Given the description of an element on the screen output the (x, y) to click on. 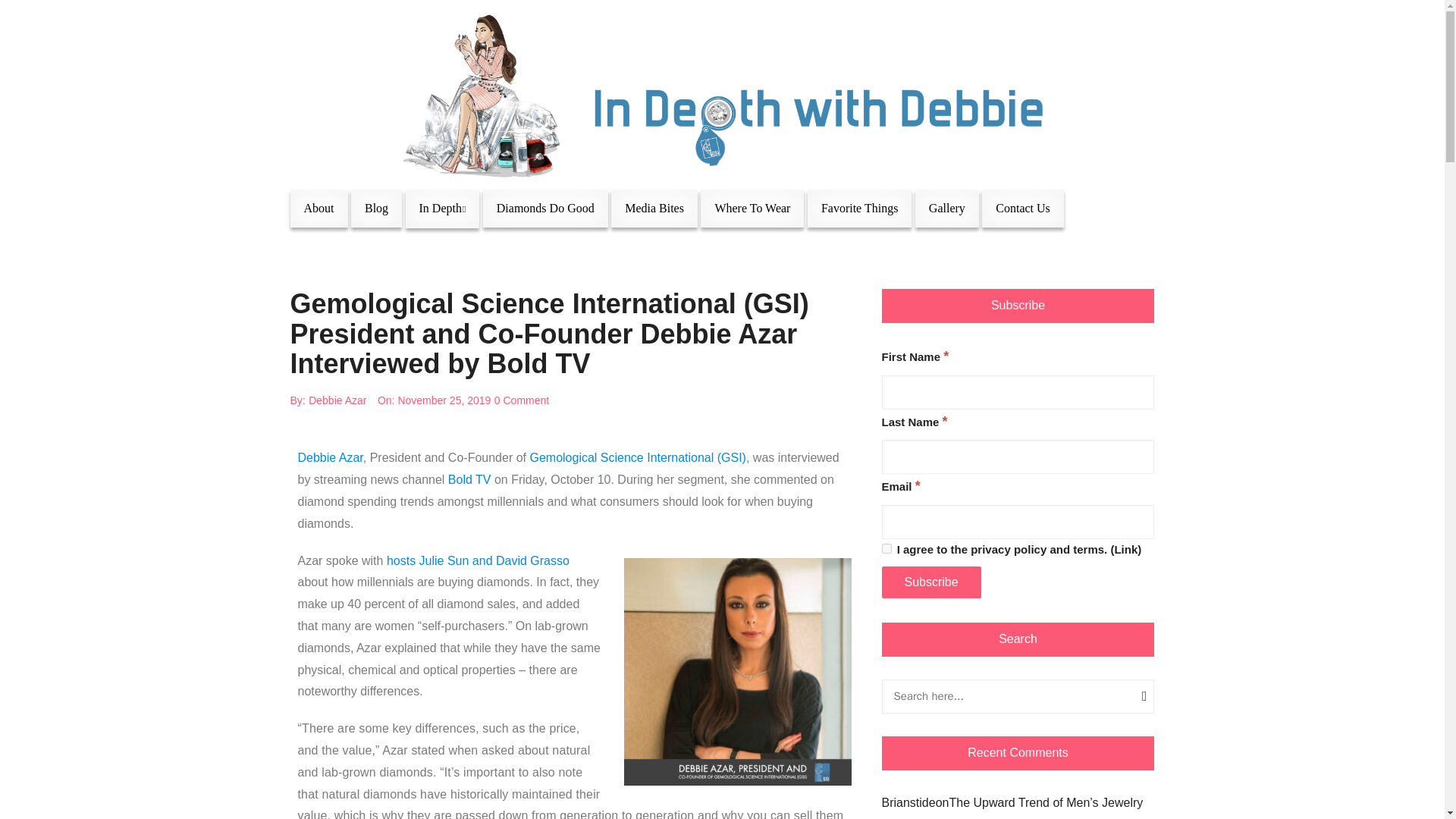
In Depth (443, 208)
hosts Julie Sun and David Grasso (478, 560)
Contact Us (1022, 208)
0 Comment (521, 400)
Debbie Azar (337, 400)
A Sense of Color (500, 389)
About (318, 208)
Subscribe (929, 582)
Media Bites (654, 208)
Bold TV (470, 479)
Sapphires (689, 424)
Where To Wear (751, 208)
Emeralds (689, 389)
Jewelry Care (500, 353)
Debbie Azar (329, 457)
